Given the description of an element on the screen output the (x, y) to click on. 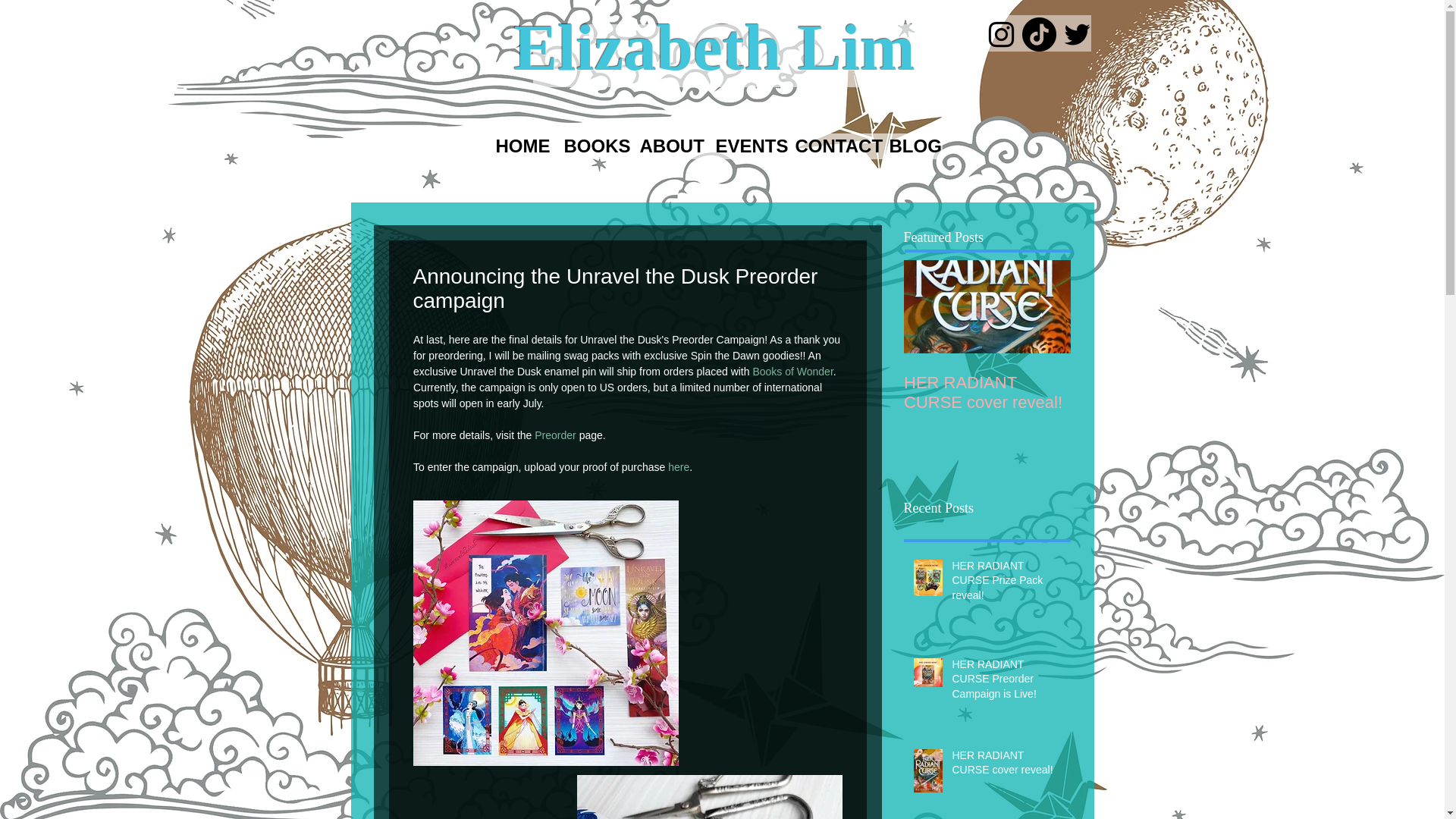
HOME (520, 144)
ABOUT (668, 144)
HER RADIANT CURSE cover reveal! (1006, 765)
Preorder (554, 435)
EVENTS (746, 144)
SPIN THE DAWN Character Cards (1153, 392)
HER RADIANT CURSE Prize Pack reveal! (1006, 583)
here (678, 467)
BLOG (911, 144)
HER RADIANT CURSE cover reveal! (987, 392)
